Given the description of an element on the screen output the (x, y) to click on. 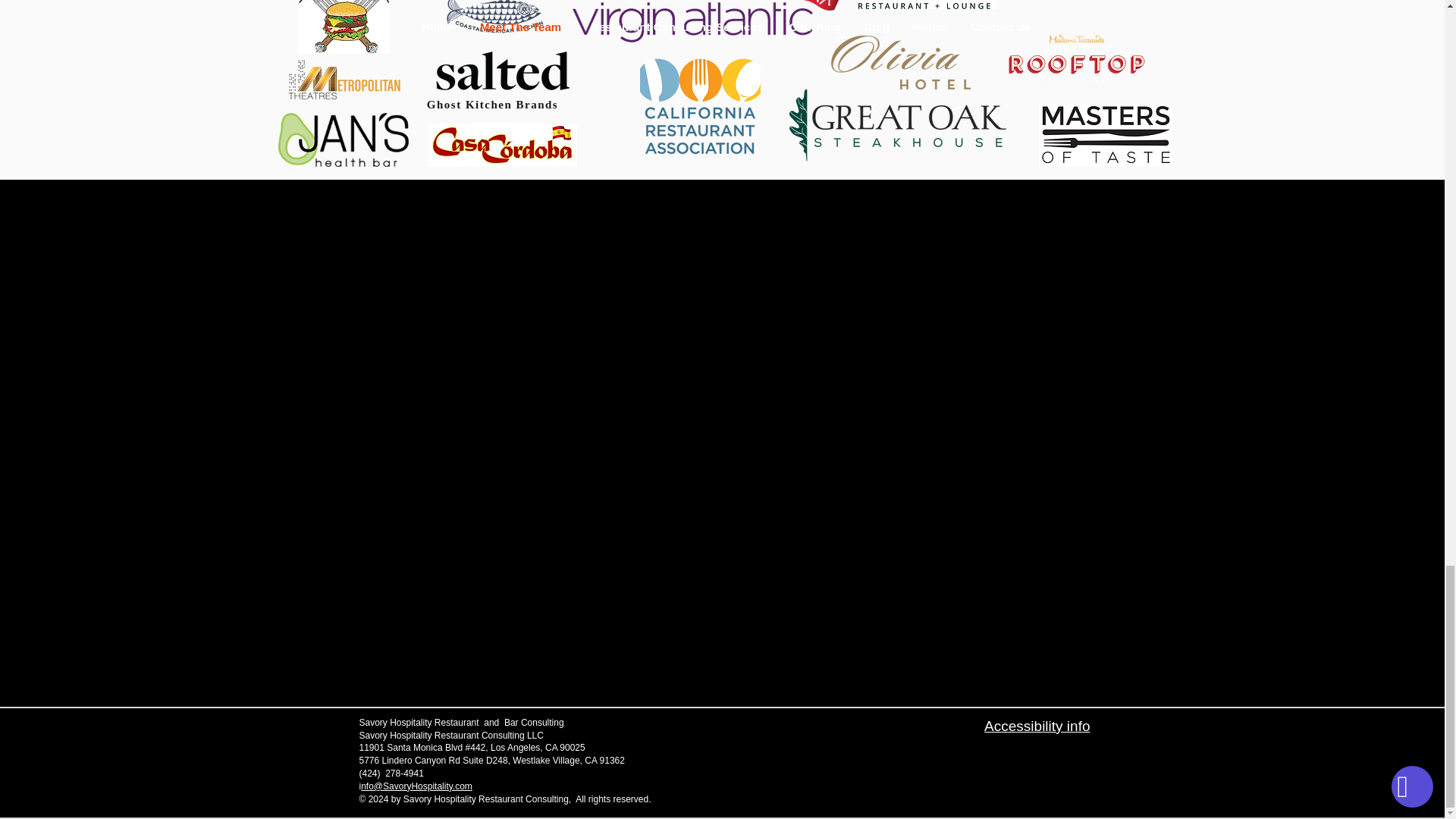
logo.png (502, 145)
Accessibility info (1036, 725)
unnamed.png (926, 4)
cropped-Olivia.png (901, 62)
